Given the description of an element on the screen output the (x, y) to click on. 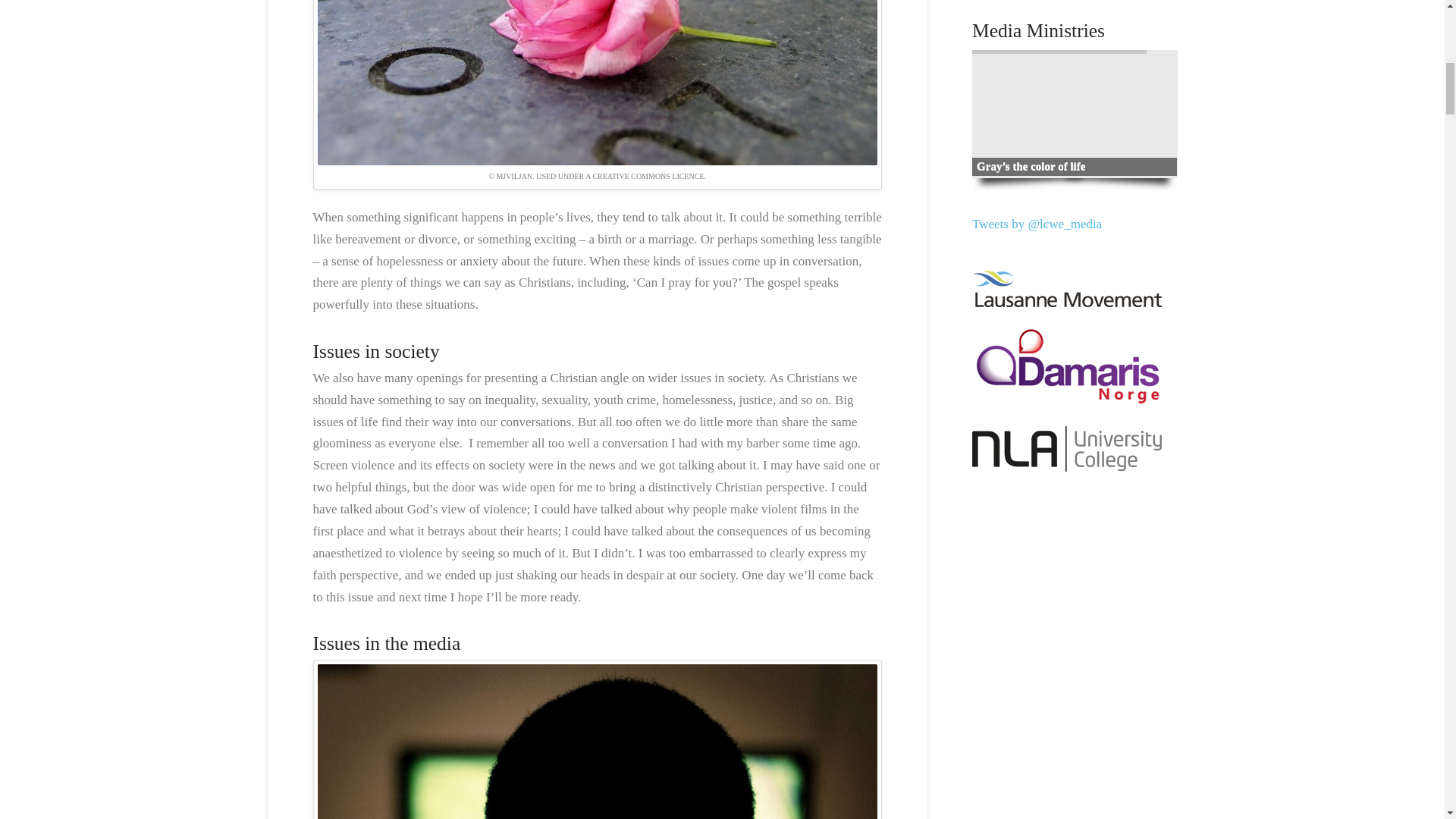
NLA University College (1066, 448)
Damaris Norge (1066, 366)
The Lausanne Movement (1066, 289)
